Given the description of an element on the screen output the (x, y) to click on. 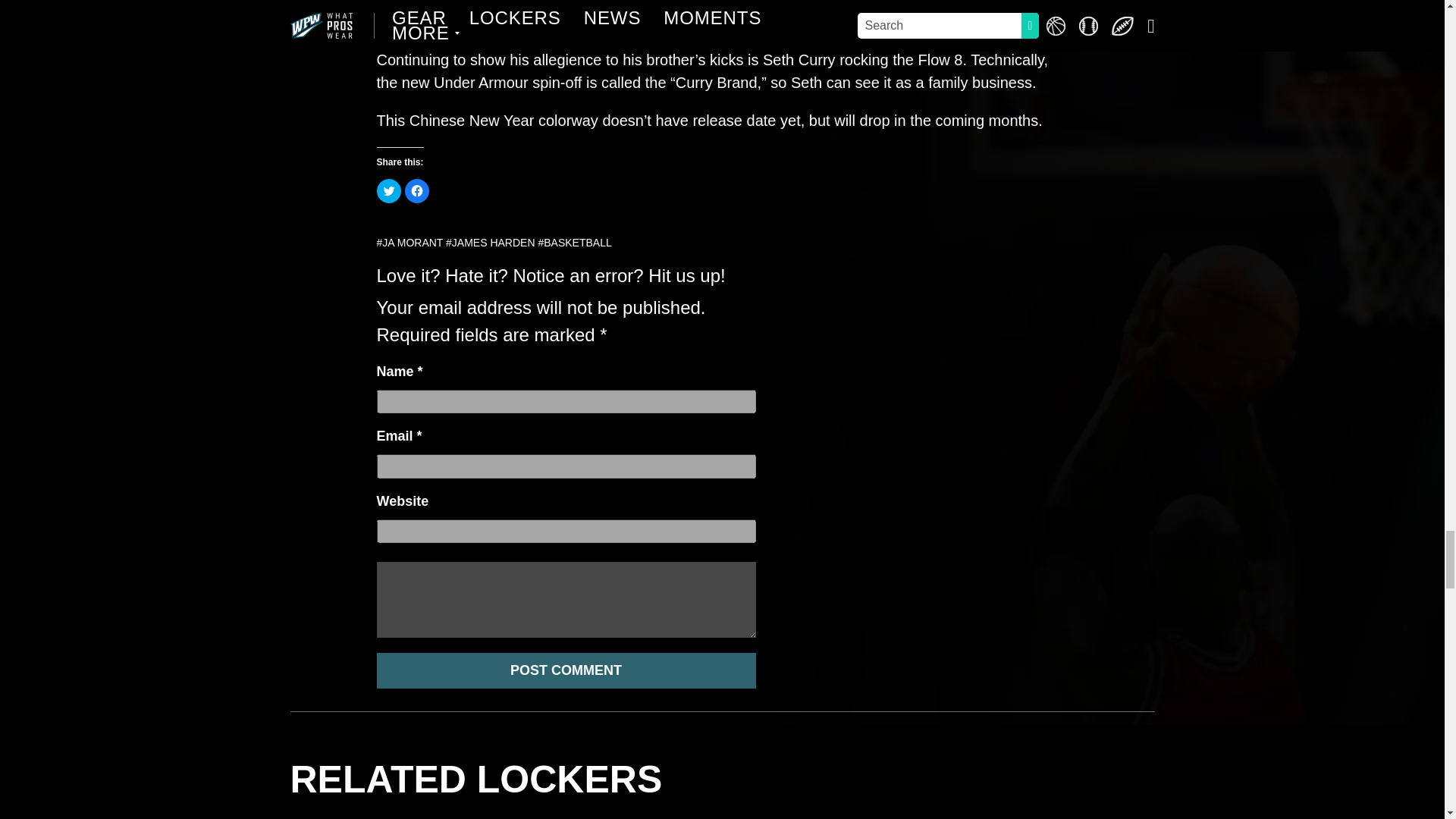
Post Comment (565, 670)
Click to share on Facebook (416, 191)
Click to share on Twitter (387, 191)
